Given the description of an element on the screen output the (x, y) to click on. 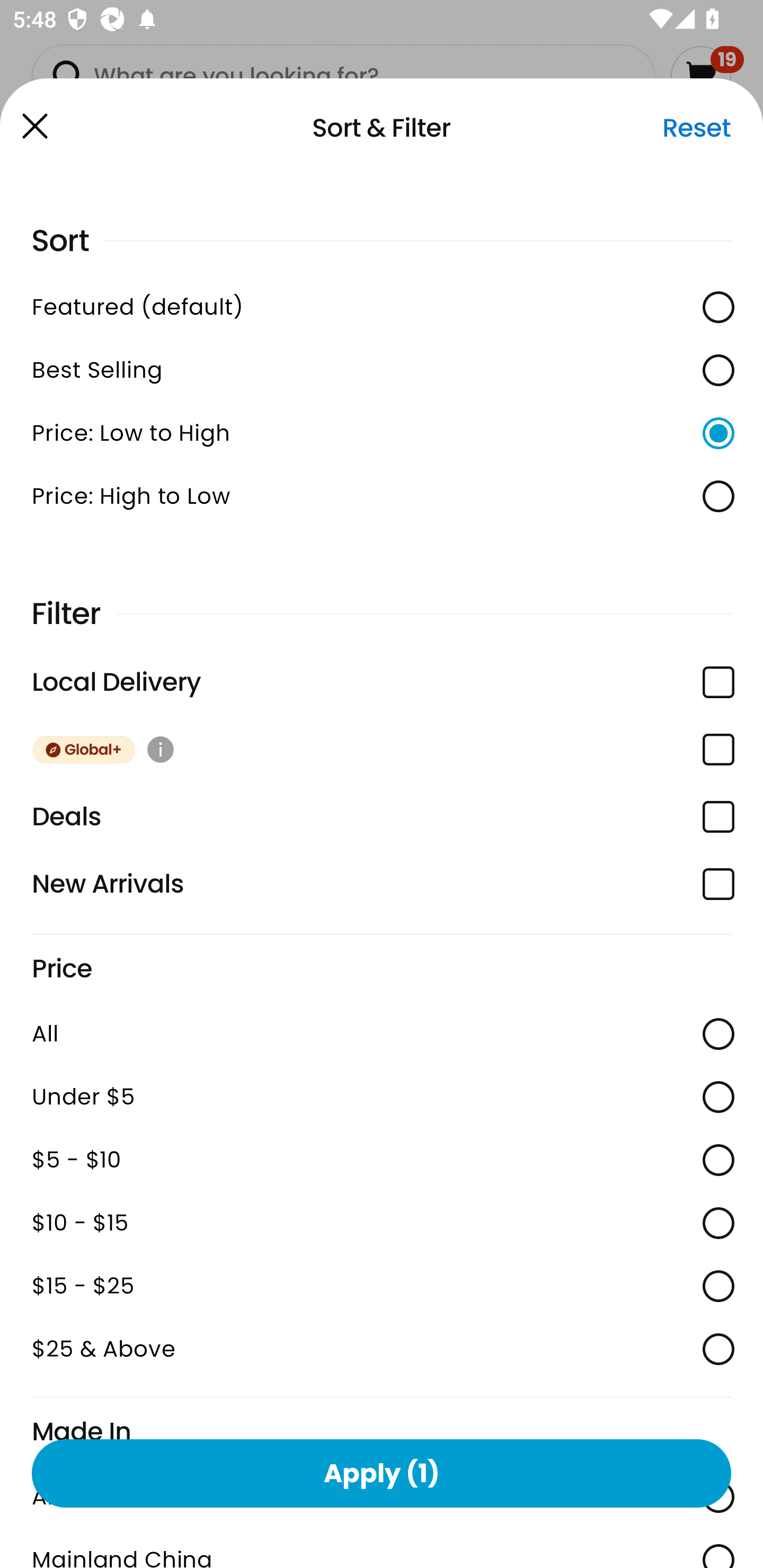
Reset (696, 127)
Apply (1) (381, 1472)
